Given the description of an element on the screen output the (x, y) to click on. 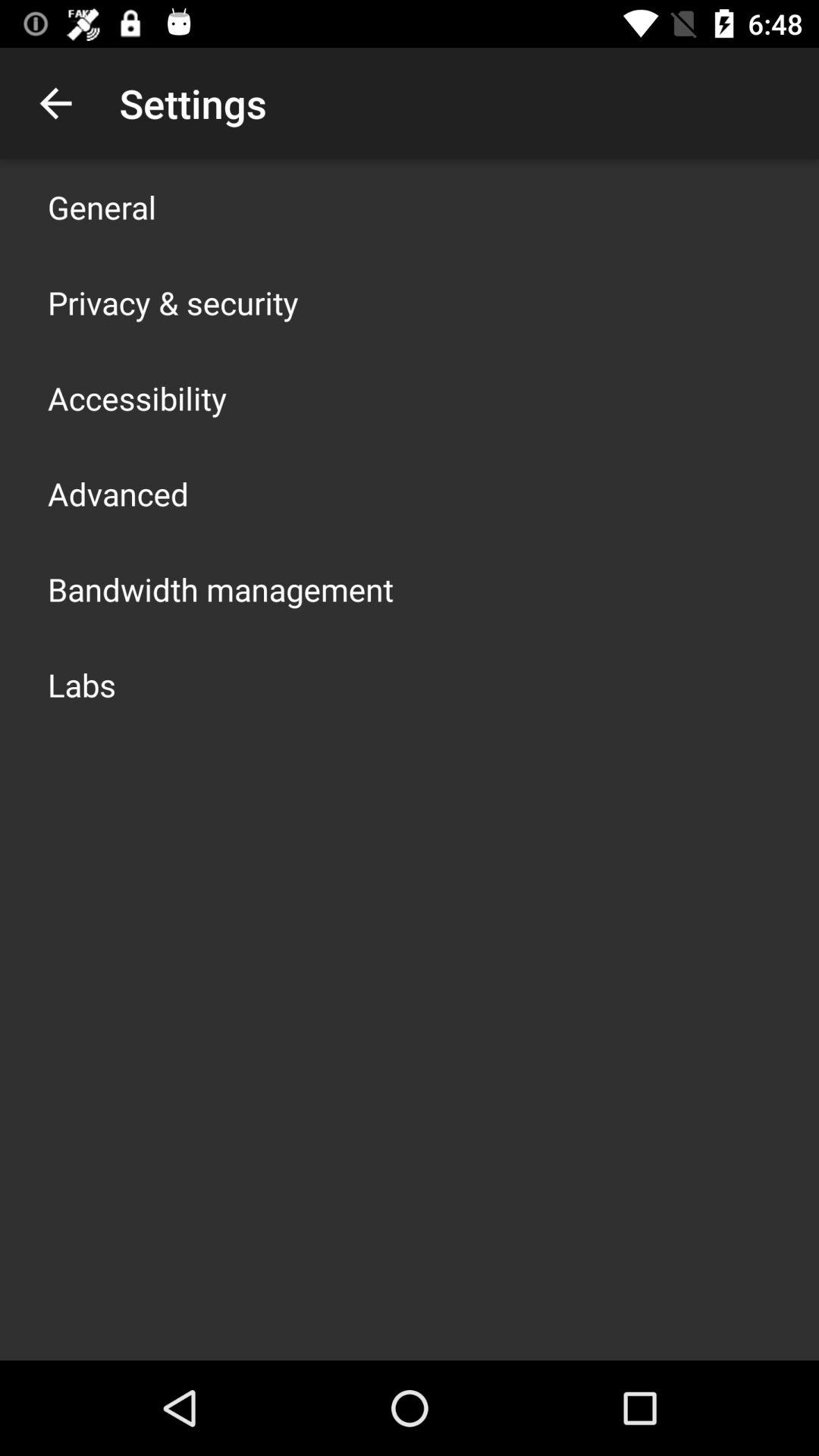
swipe until privacy & security icon (172, 302)
